Given the description of an element on the screen output the (x, y) to click on. 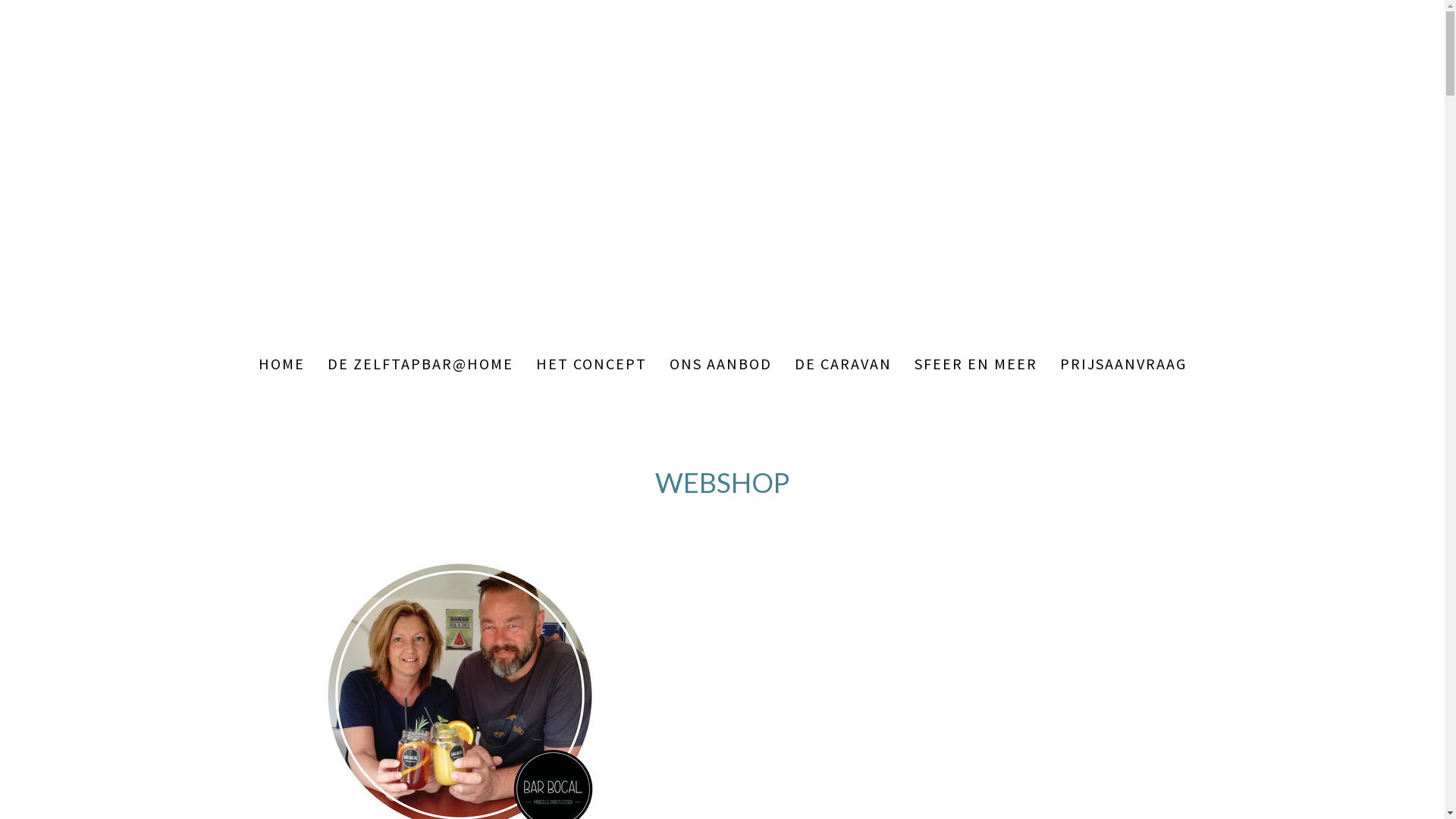
DE ZELFTAPBAR@HOME Element type: text (419, 363)
HOME Element type: text (281, 363)
HET CONCEPT Element type: text (591, 363)
DE CARAVAN Element type: text (842, 363)
PRIJSAANVRAAG Element type: text (1122, 363)
SFEER EN MEER Element type: text (975, 363)
ONS AANBOD Element type: text (720, 363)
